Given the description of an element on the screen output the (x, y) to click on. 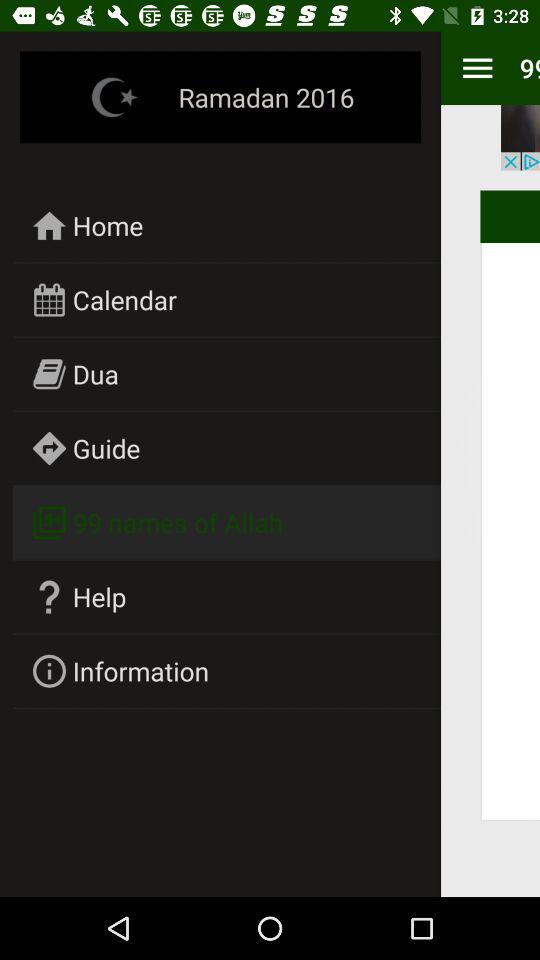
quick setting box (477, 68)
